Given the description of an element on the screen output the (x, y) to click on. 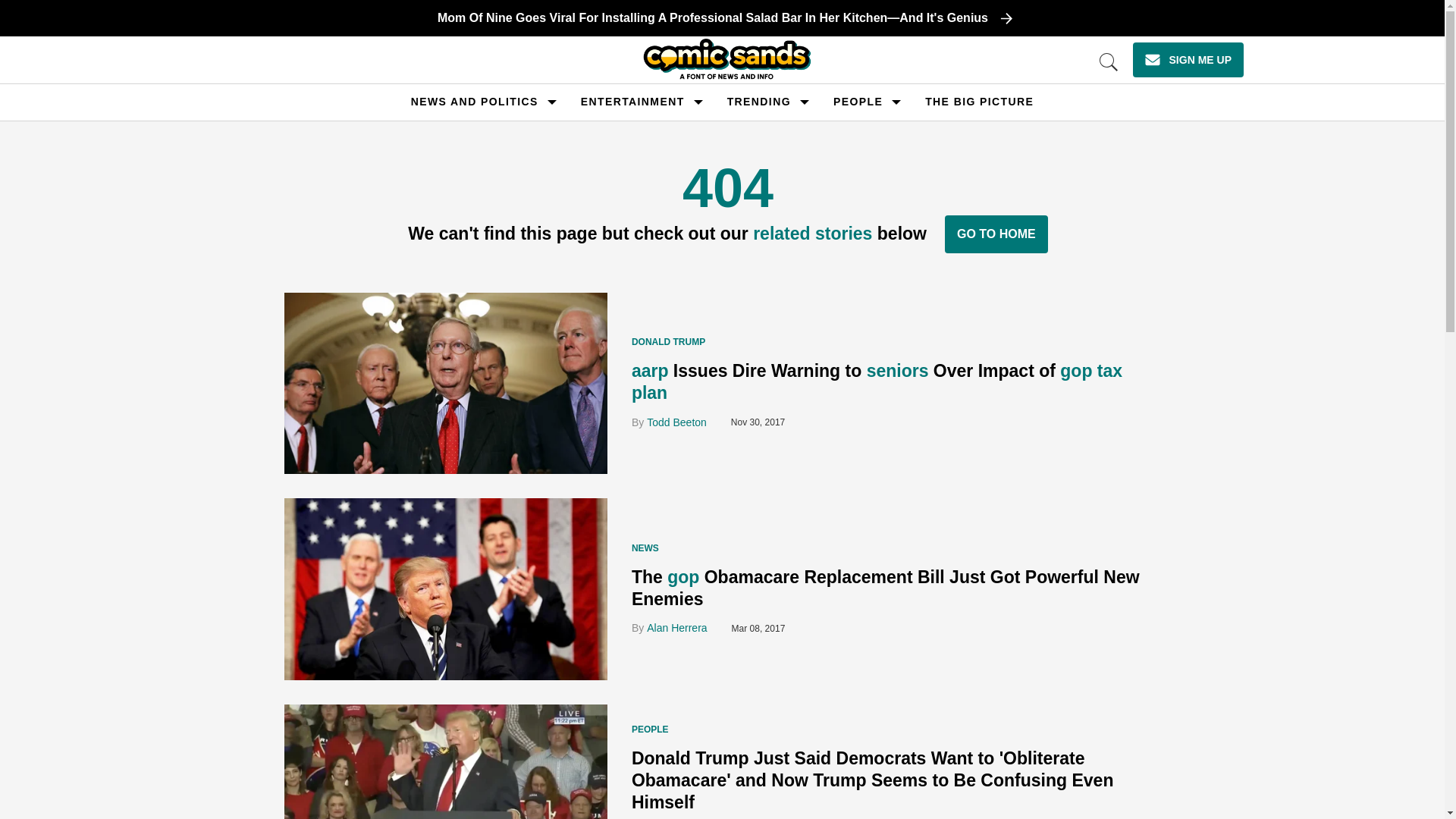
NEWS AND POLITICS (474, 101)
SIGN ME UP (1187, 59)
Open Search (1108, 61)
Open Search (1108, 61)
